Given the description of an element on the screen output the (x, y) to click on. 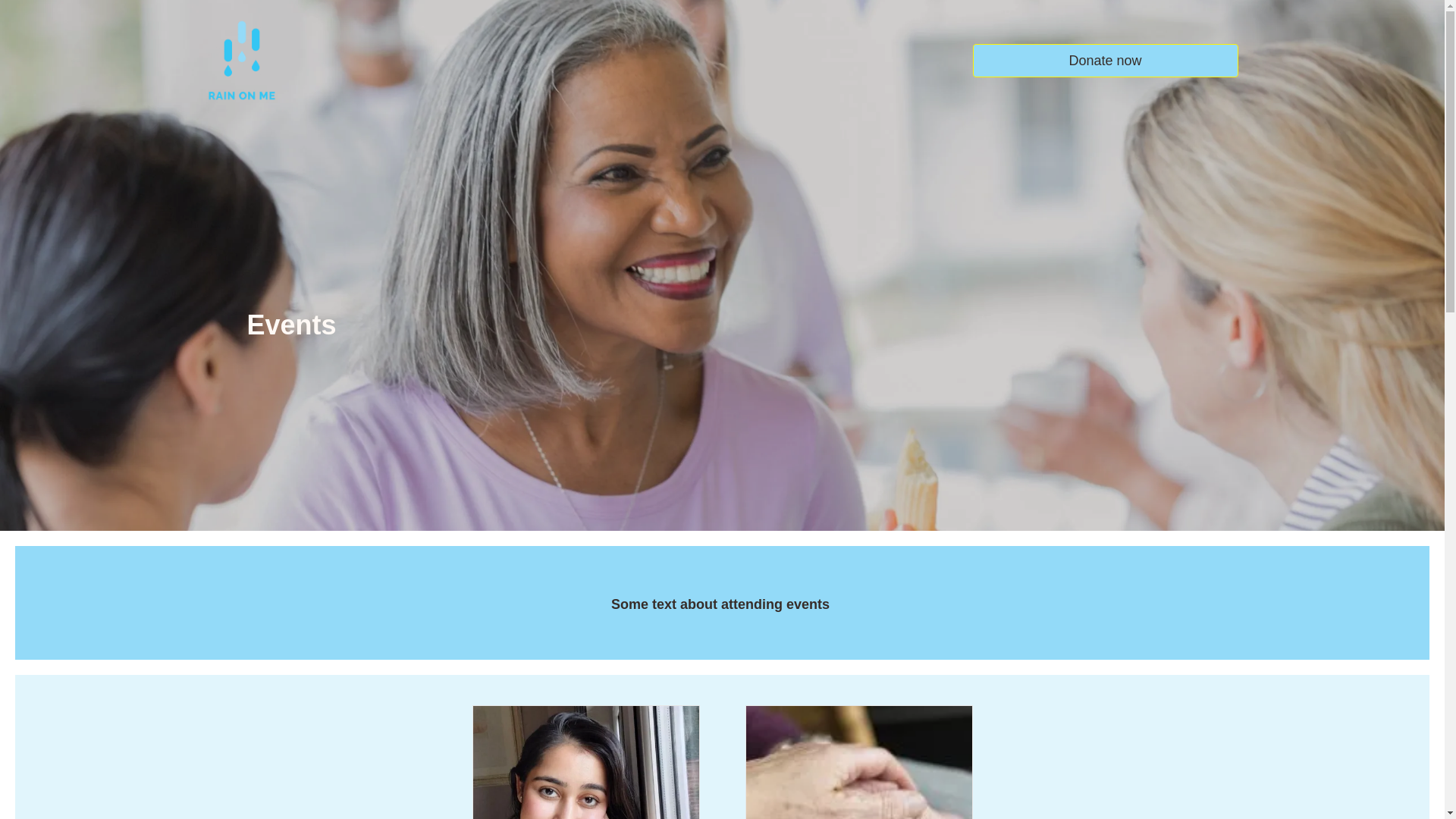
Donate now (1104, 60)
Founder titled Ambassador for the organisation (585, 814)
